Given the description of an element on the screen output the (x, y) to click on. 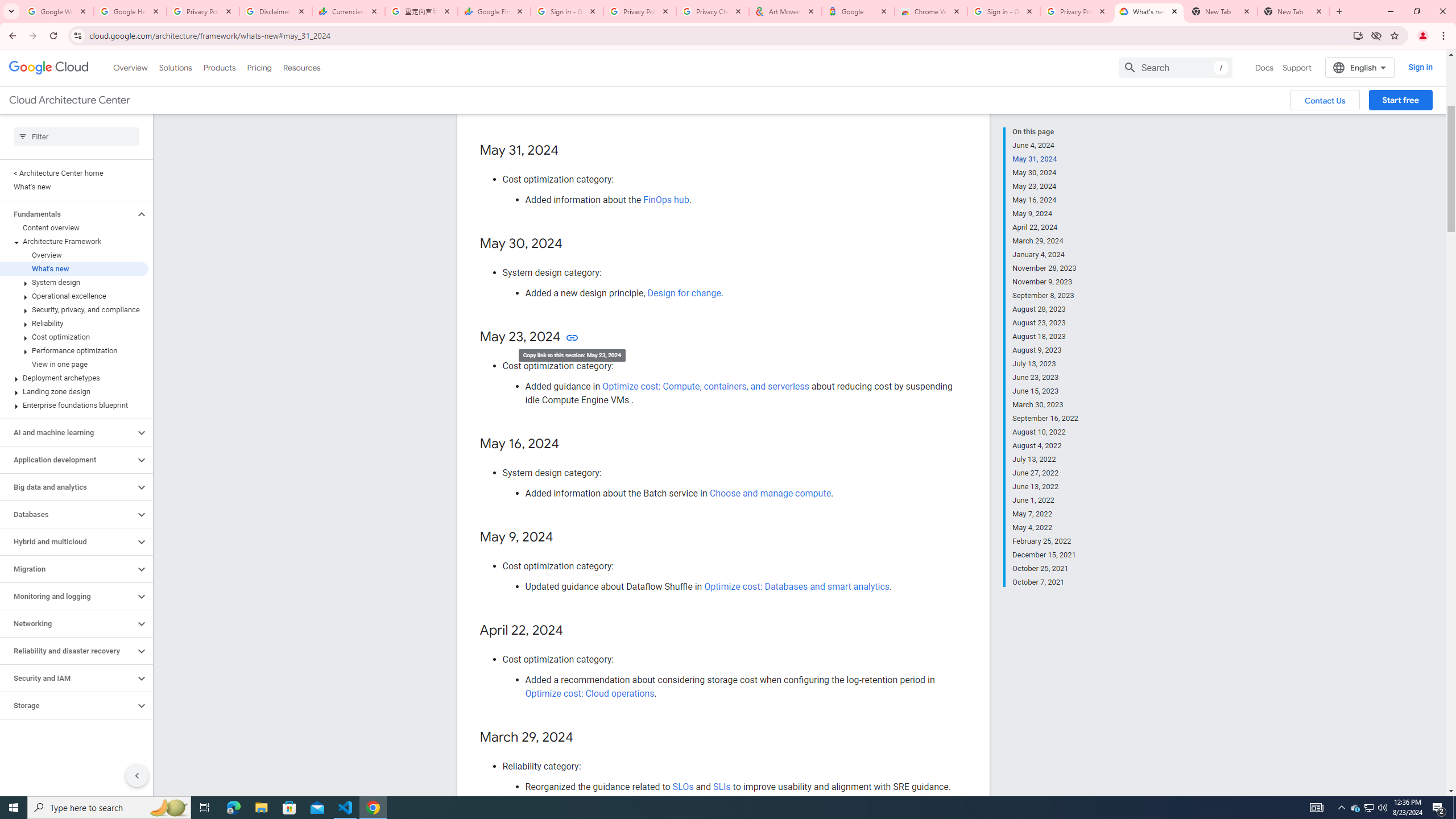
New Tab (1293, 11)
Hybrid and multicloud (67, 541)
Content overview (74, 228)
Optimize cost: Compute, containers, and serverless (705, 385)
Application development (67, 459)
June 15, 2023 (1044, 391)
May 4, 2022 (1044, 527)
